Given the description of an element on the screen output the (x, y) to click on. 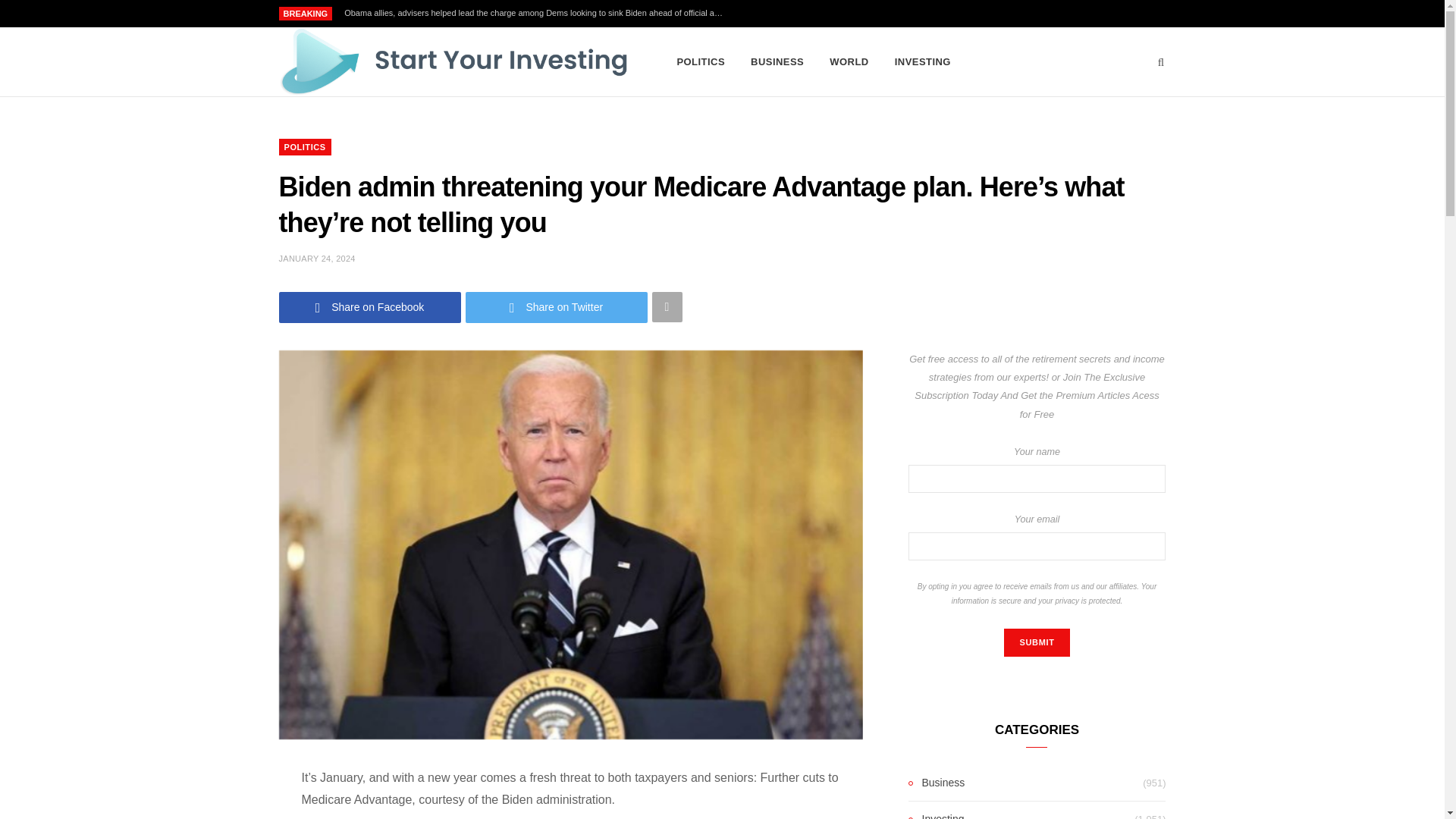
Share on Facebook (370, 306)
BUSINESS (777, 61)
JANUARY 24, 2024 (317, 257)
Share on Twitter (556, 306)
WORLD (848, 61)
Search (1161, 61)
INVESTING (922, 61)
Share on Twitter (556, 306)
POLITICS (700, 61)
POLITICS (305, 146)
Start Your Investing (453, 61)
Submit (1036, 642)
Share on Facebook (370, 306)
